Given the description of an element on the screen output the (x, y) to click on. 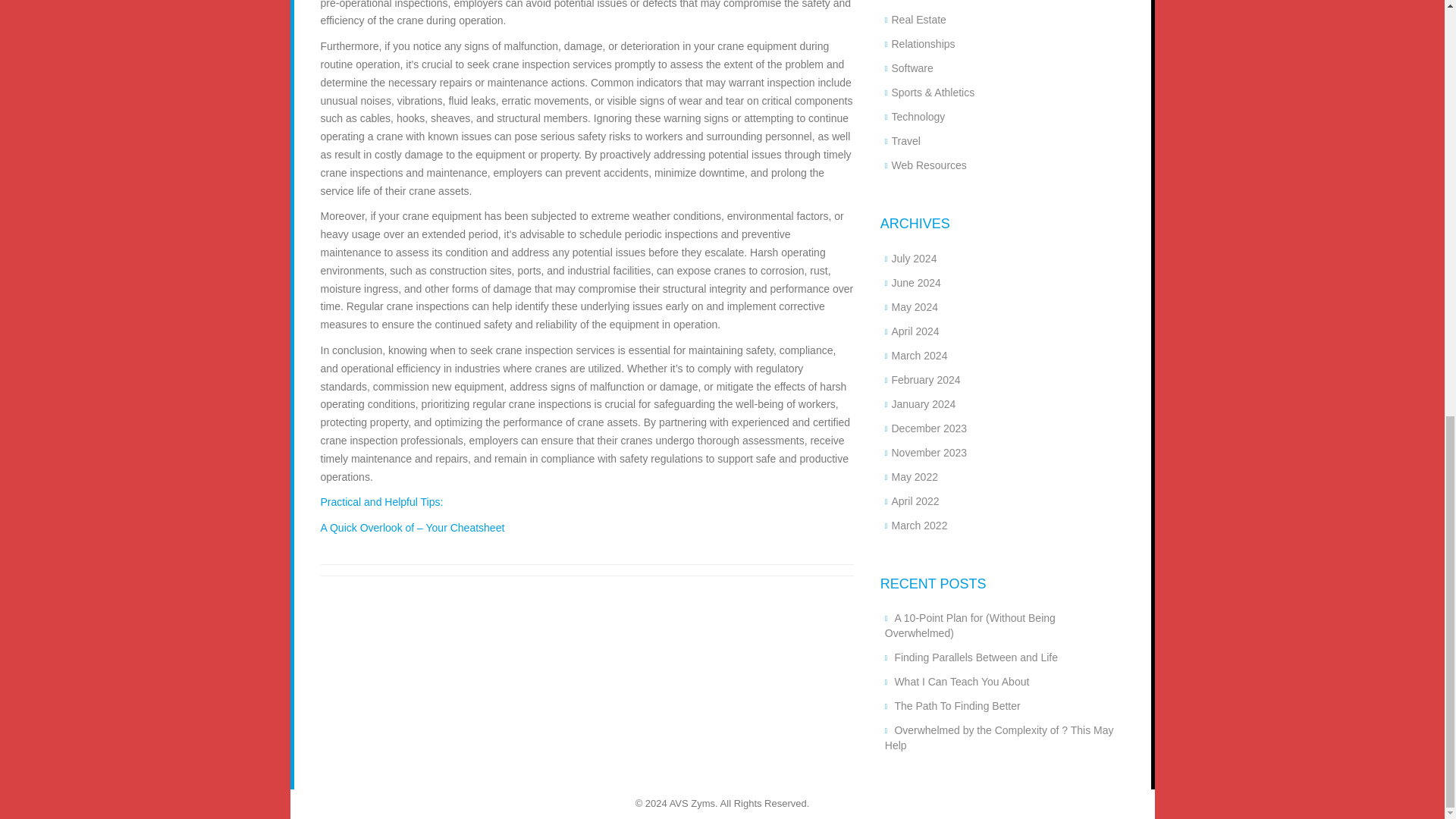
Practical and Helpful Tips: (381, 501)
April 2024 (915, 331)
Web Resources (928, 164)
May 2024 (914, 306)
Technology (917, 116)
Real Estate (917, 19)
Travel (905, 141)
June 2024 (915, 282)
March 2024 (919, 355)
July 2024 (913, 258)
Software (912, 68)
Relationships (923, 43)
